Given the description of an element on the screen output the (x, y) to click on. 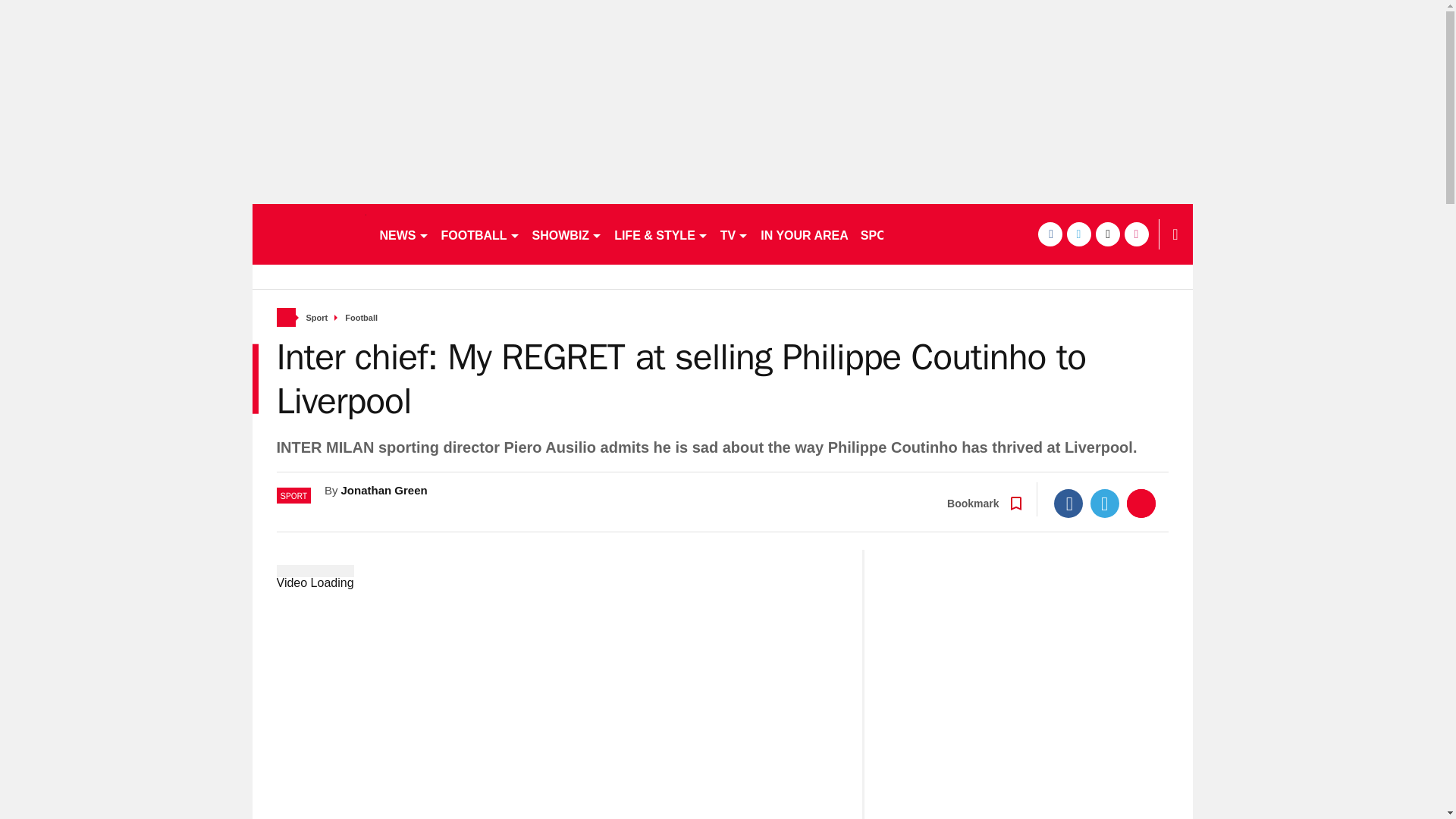
Twitter (1104, 502)
tiktok (1106, 233)
NEWS (402, 233)
twitter (1077, 233)
SHOWBIZ (566, 233)
FOOTBALL (480, 233)
Facebook (1068, 502)
instagram (1136, 233)
dailystar (308, 233)
facebook (1048, 233)
